Given the description of an element on the screen output the (x, y) to click on. 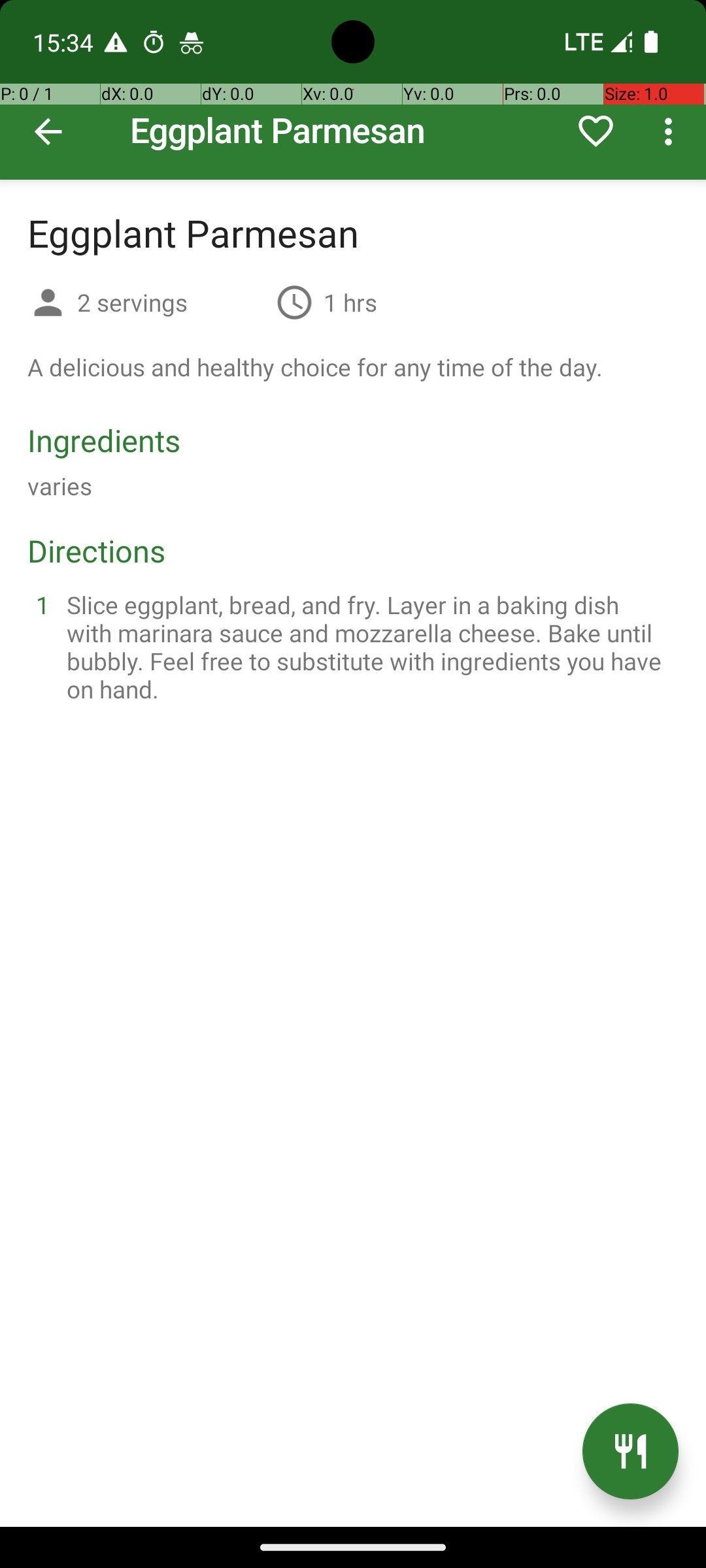
Eggplant Parmesan Element type: android.widget.FrameLayout (353, 89)
2 servings Element type: android.widget.TextView (170, 301)
1 hrs Element type: android.widget.TextView (350, 301)
varies Element type: android.widget.TextView (59, 485)
Slice eggplant, bread, and fry. Layer in a baking dish with marinara sauce and mozzarella cheese. Bake until bubbly. Feel free to substitute with ingredients you have on hand. Element type: android.widget.TextView (368, 646)
